Given the description of an element on the screen output the (x, y) to click on. 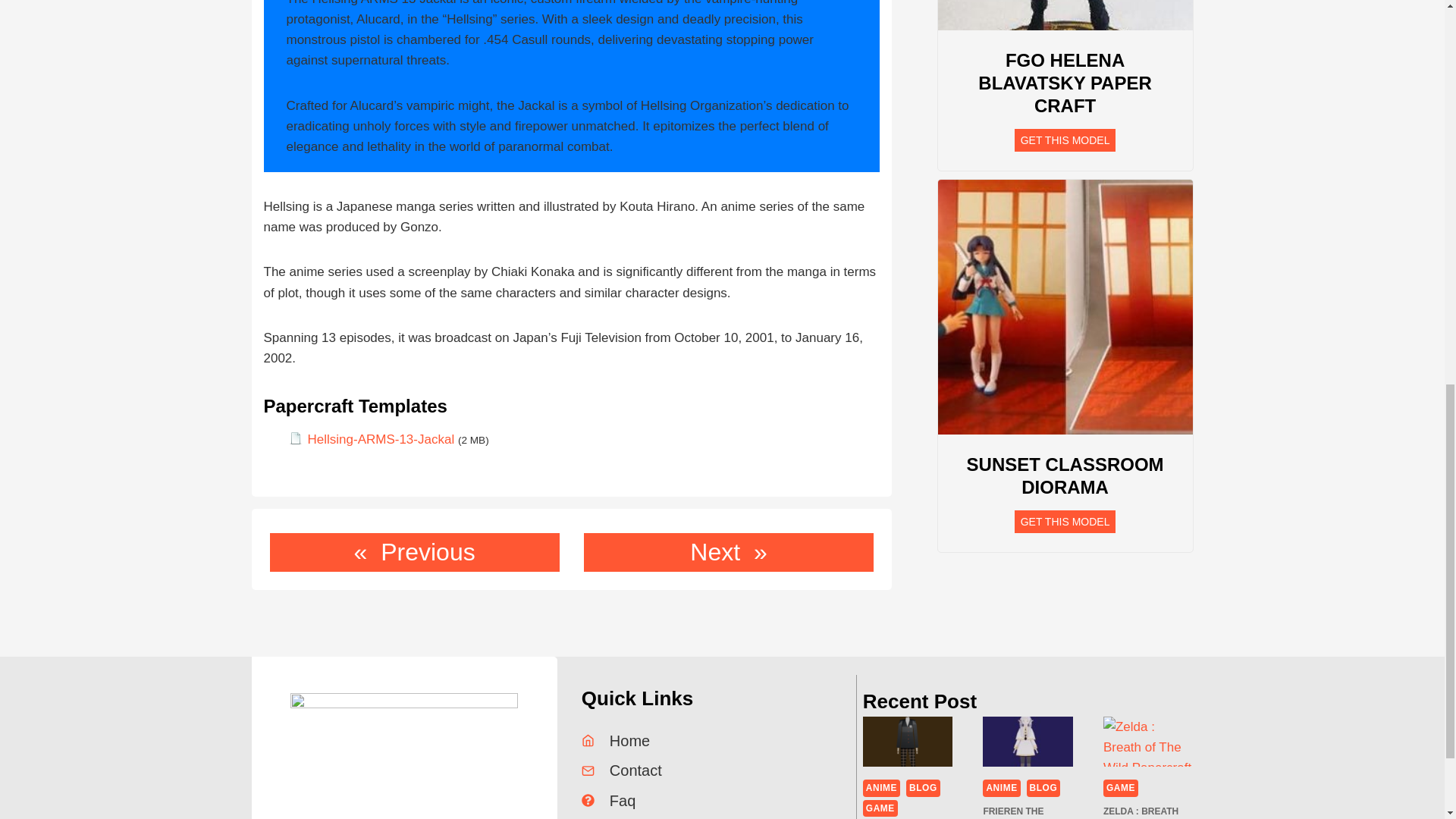
Sunset Classroom Diorama 2 (1064, 306)
FGO Helena Blavatsky Paper craft 1 (1064, 15)
Joker Amamiya Ren Papercraft 3 (908, 741)
Zelda : Breath of The Wild Papercraft 5 (1148, 741)
Frieren The Slayer Papercraft 4 (1027, 741)
